Given the description of an element on the screen output the (x, y) to click on. 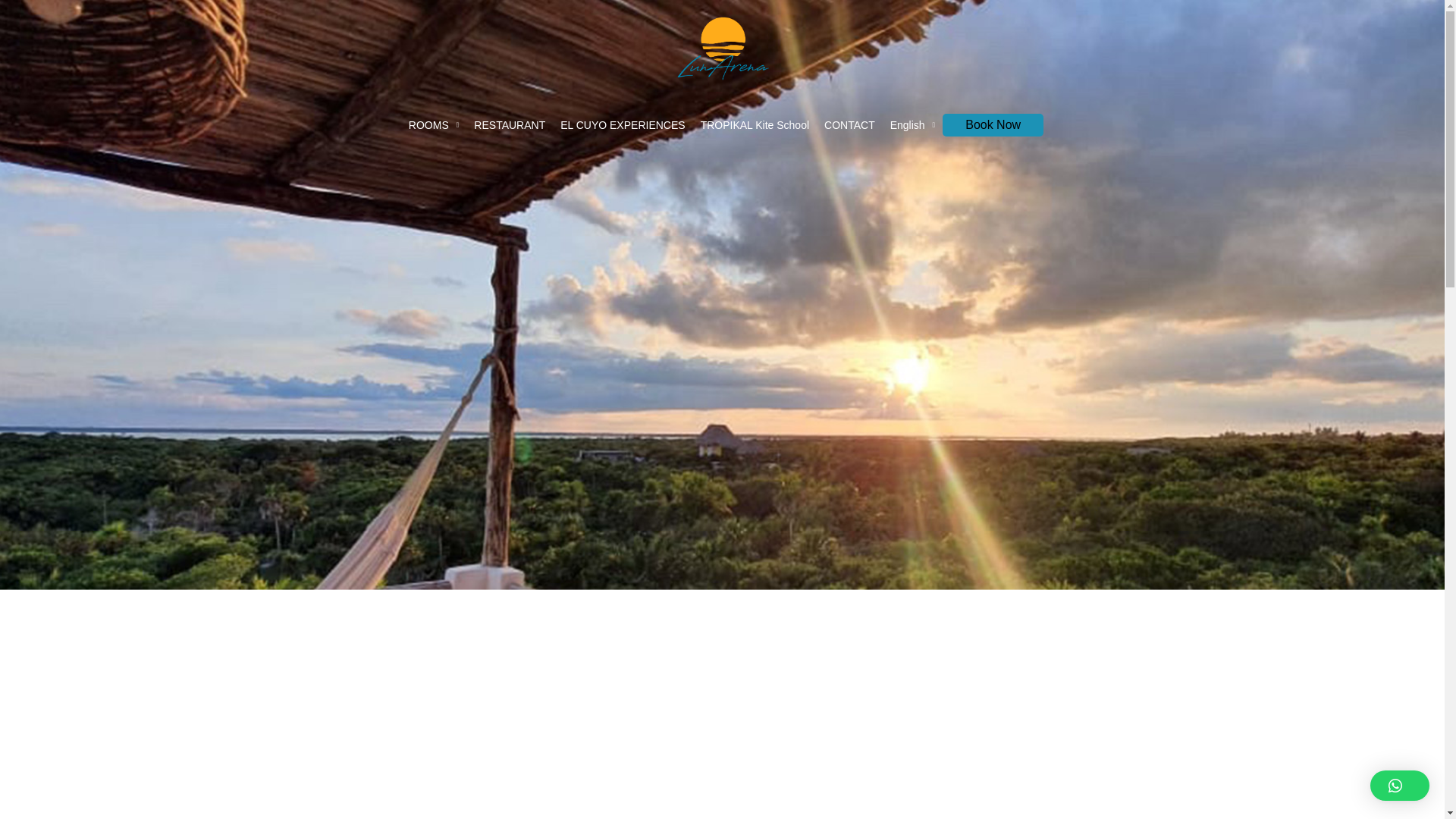
ROOMS (433, 124)
CONTACT (849, 124)
RESTAURANT (509, 124)
Book Now (992, 124)
EL CUYO EXPERIENCES (623, 124)
English (912, 124)
TROPIKAL Kite School (754, 124)
